Given the description of an element on the screen output the (x, y) to click on. 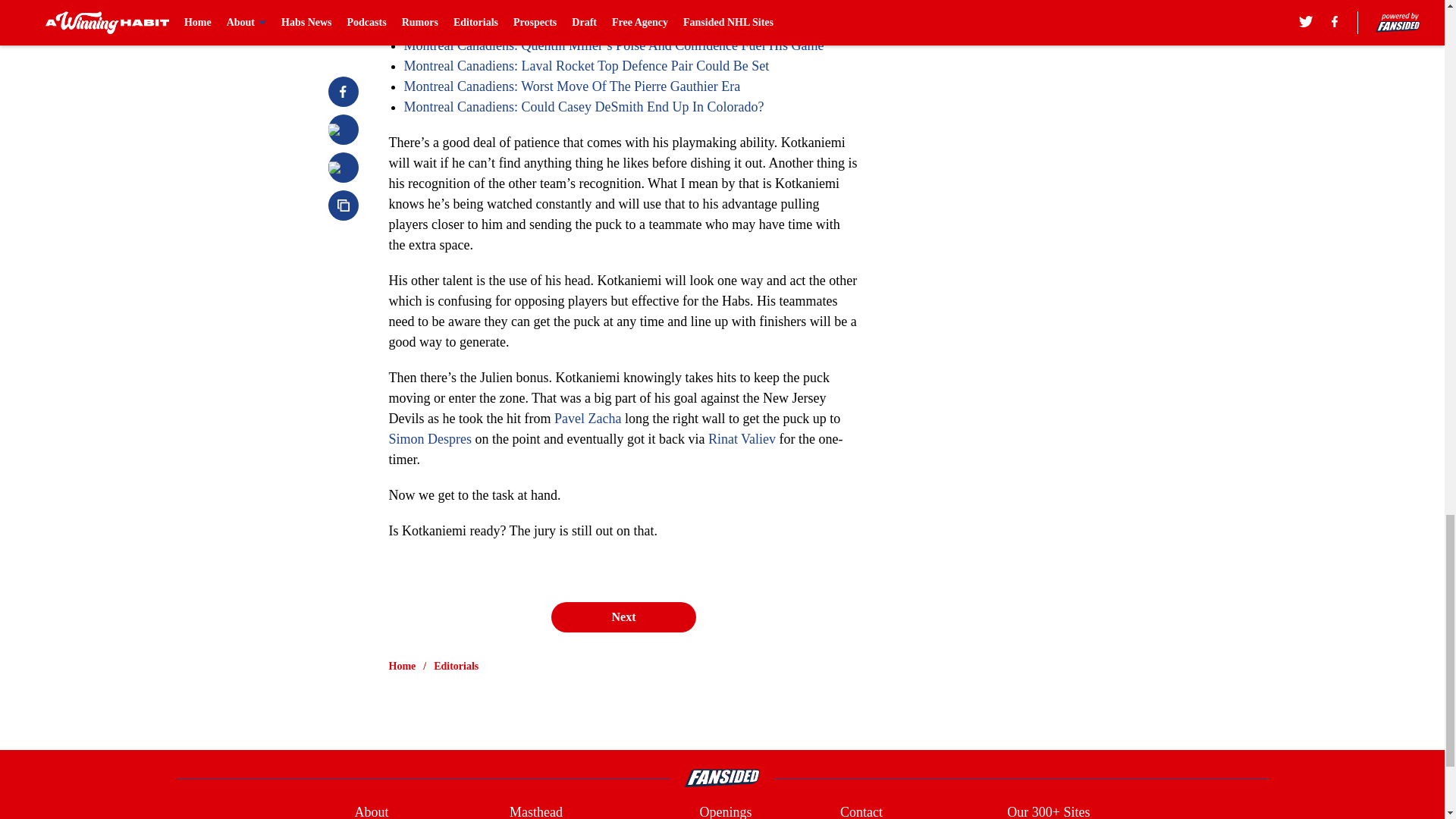
Openings (724, 810)
About (370, 810)
Simon Despres (429, 438)
Editorials (456, 666)
Montreal Canadiens: Worst Move Of The Pierre Gauthier Era (571, 86)
Next (622, 616)
Rinat Valiev (741, 438)
Montreal Canadiens: Biggest Questions Going Into 2023-24 (567, 24)
Pavel Zacha (587, 418)
Masthead (535, 810)
Montreal Canadiens: Could Casey DeSmith End Up In Colorado? (582, 106)
Home (401, 666)
